Given the description of an element on the screen output the (x, y) to click on. 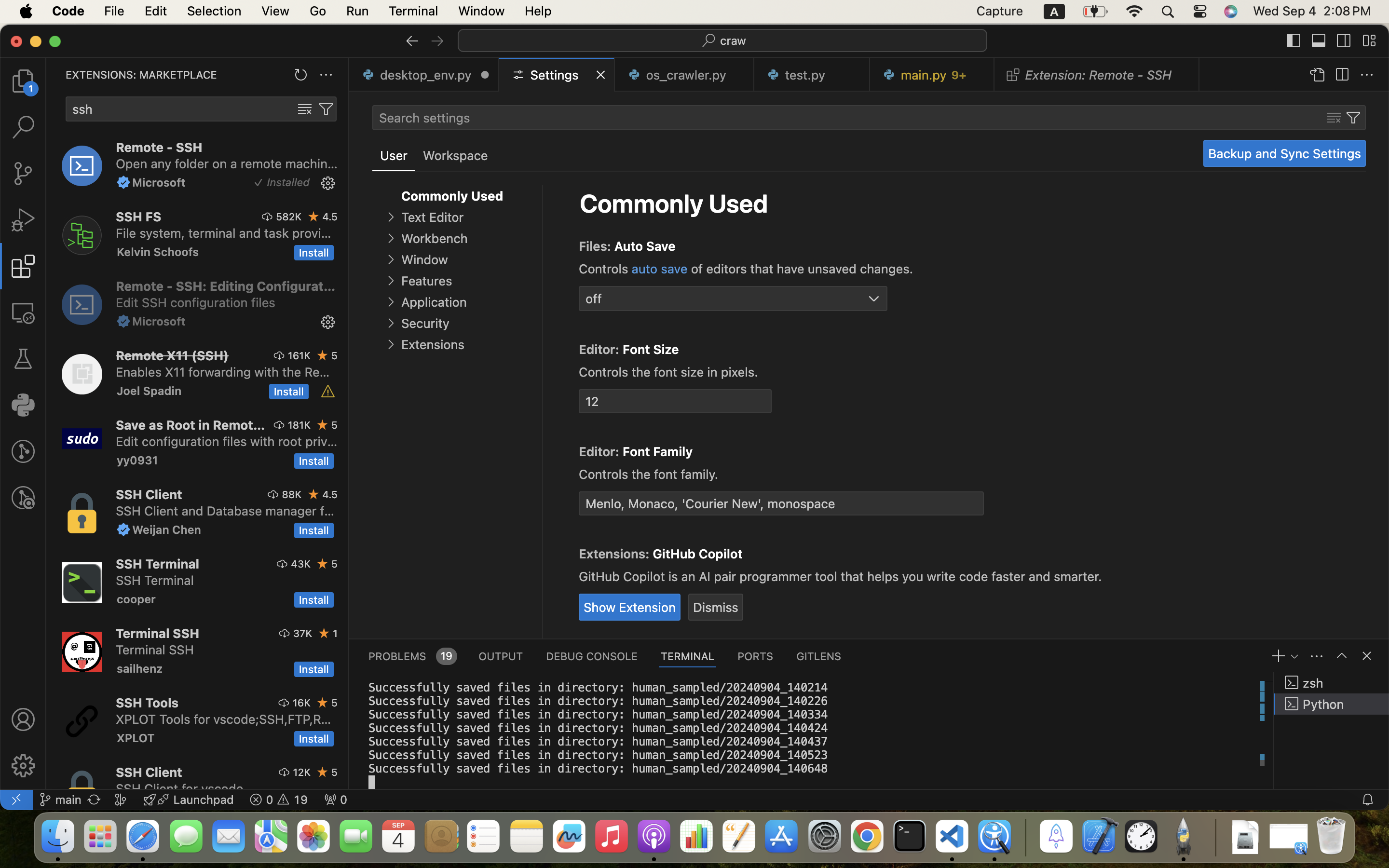
Extensions Element type: AXStaticText (432, 344)
SSH Terminal Element type: AXStaticText (157, 563)
SSH FS Element type: AXStaticText (138, 216)
 Element type: AXButton (1341, 74)
of editors that have unsaved changes. Element type: AXStaticText (800, 268)
